Given the description of an element on the screen output the (x, y) to click on. 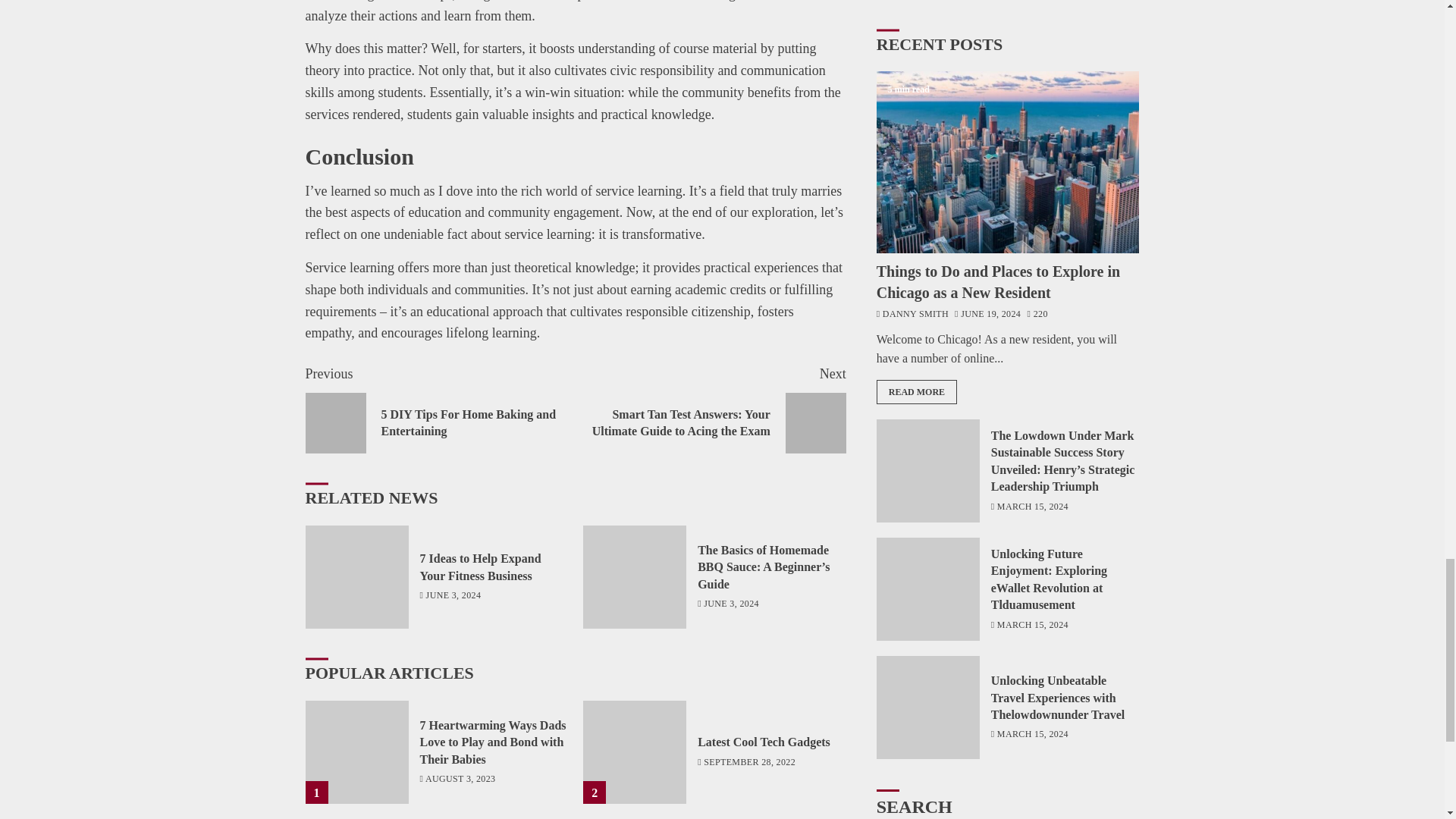
7 Ideas to Help Expand Your Fitness Business (480, 567)
Latest Cool Tech Gadgets (763, 742)
Latest Cool Tech Gadgets (634, 752)
7 Ideas to Help Expand Your Fitness Business (355, 576)
